Given the description of an element on the screen output the (x, y) to click on. 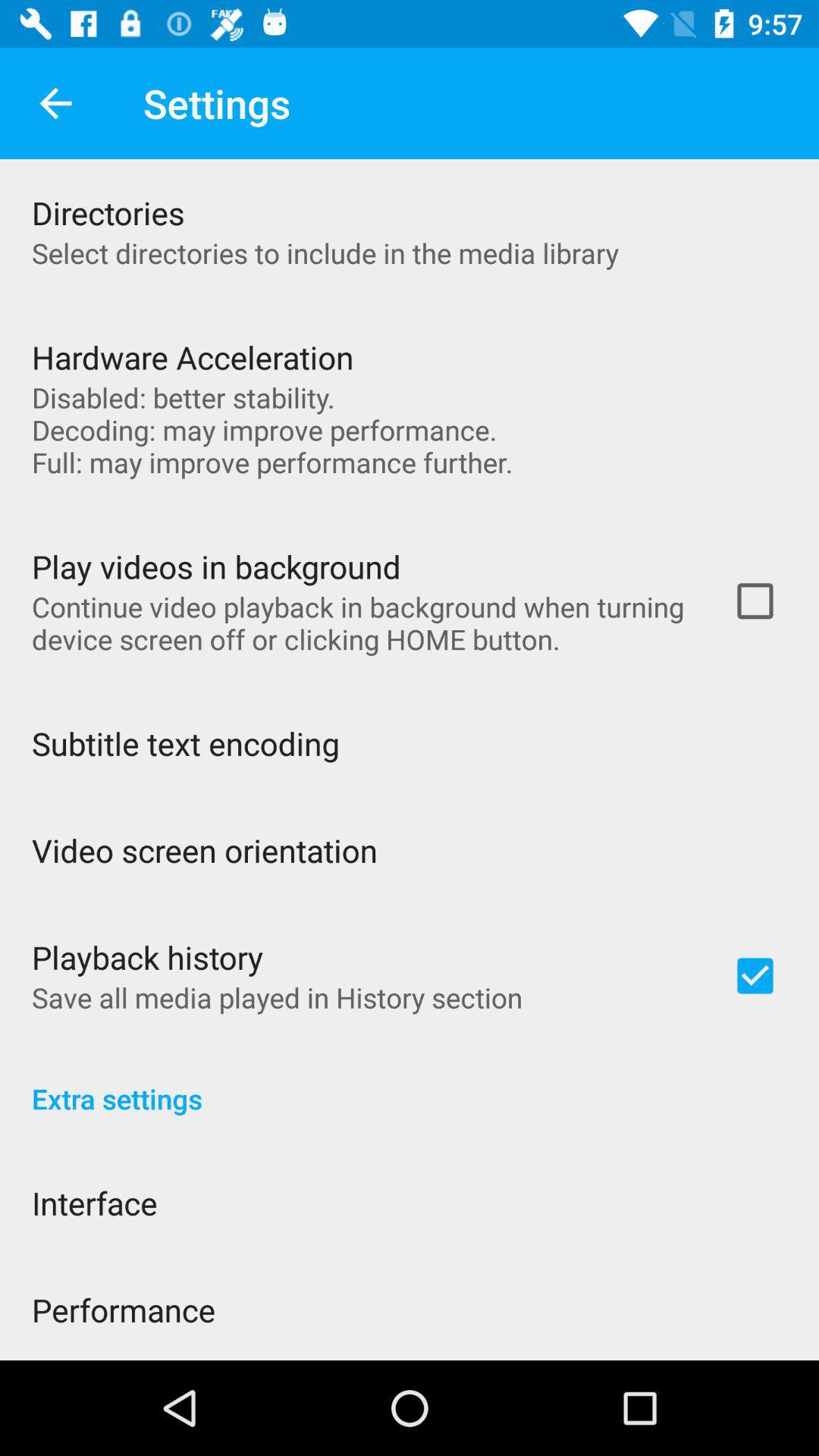
click on icon which is right to text play back history (755, 975)
select  the first checkbox which is on the right side of the page (755, 601)
